Given the description of an element on the screen output the (x, y) to click on. 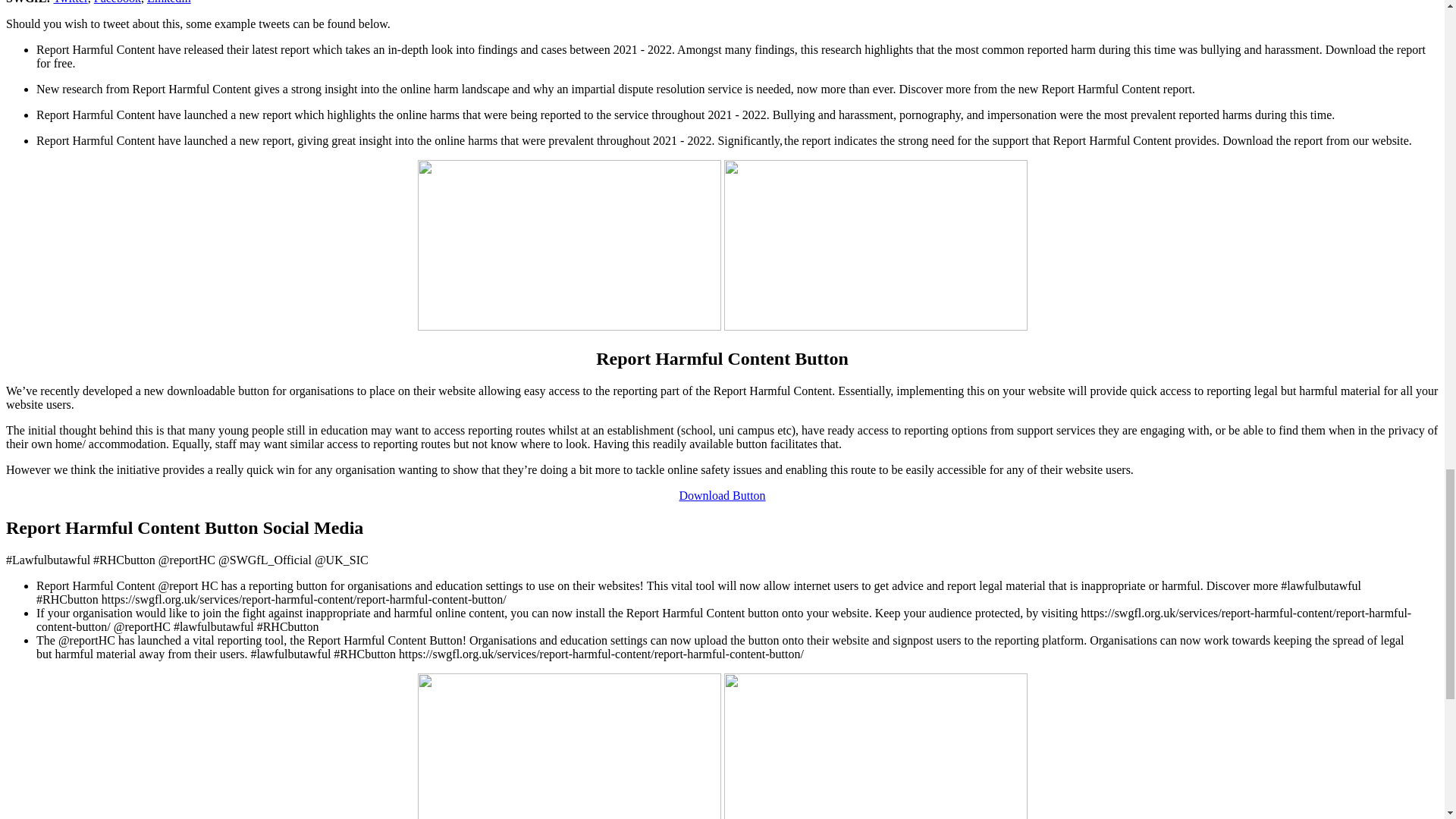
Facebook (117, 2)
Linkedin (168, 2)
Twitter (69, 2)
Download Button (721, 495)
